Given the description of an element on the screen output the (x, y) to click on. 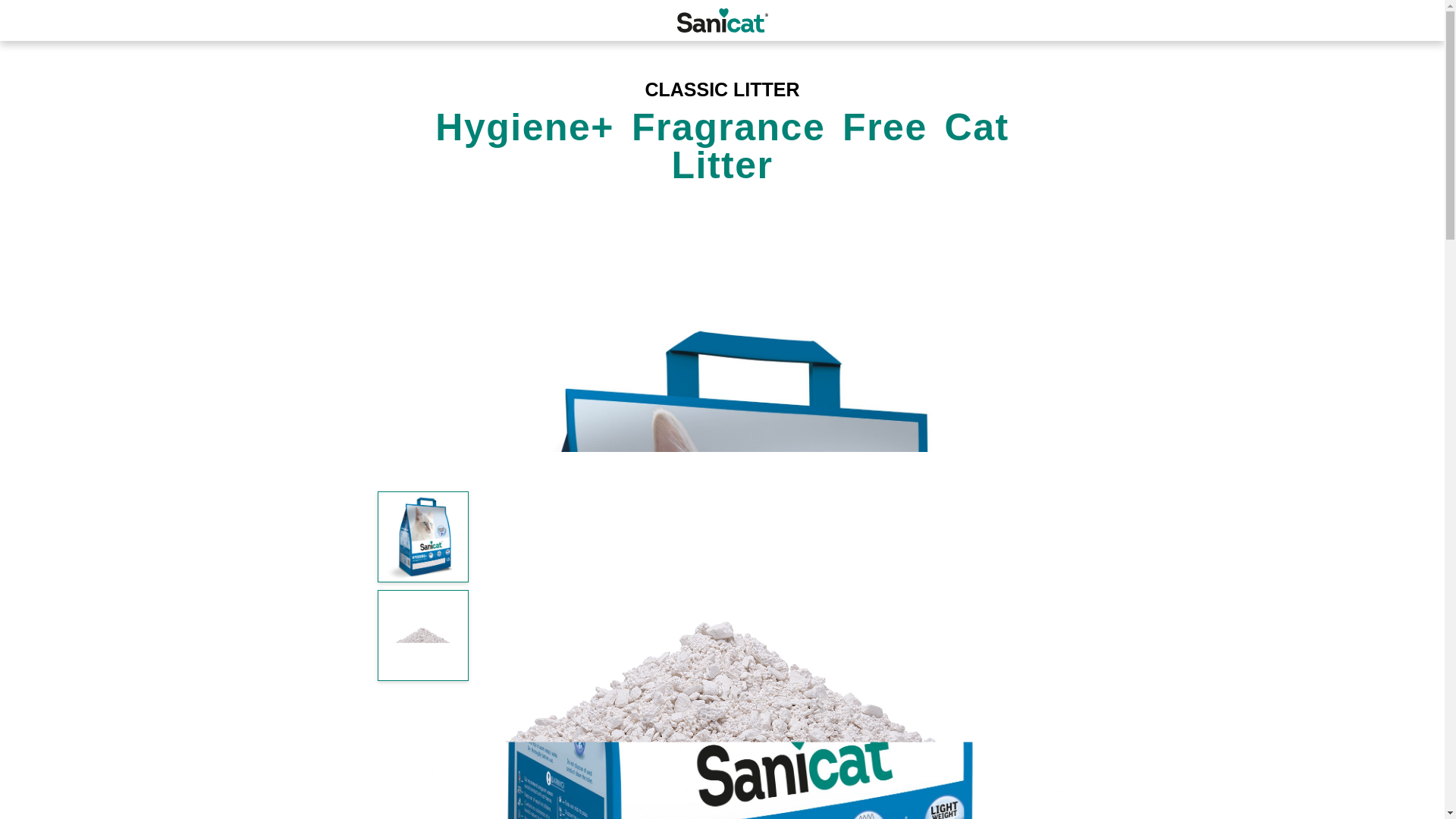
Search (993, 20)
Search (1372, 20)
Language (1412, 20)
Menu (31, 20)
Close Search (1026, 20)
